Given the description of an element on the screen output the (x, y) to click on. 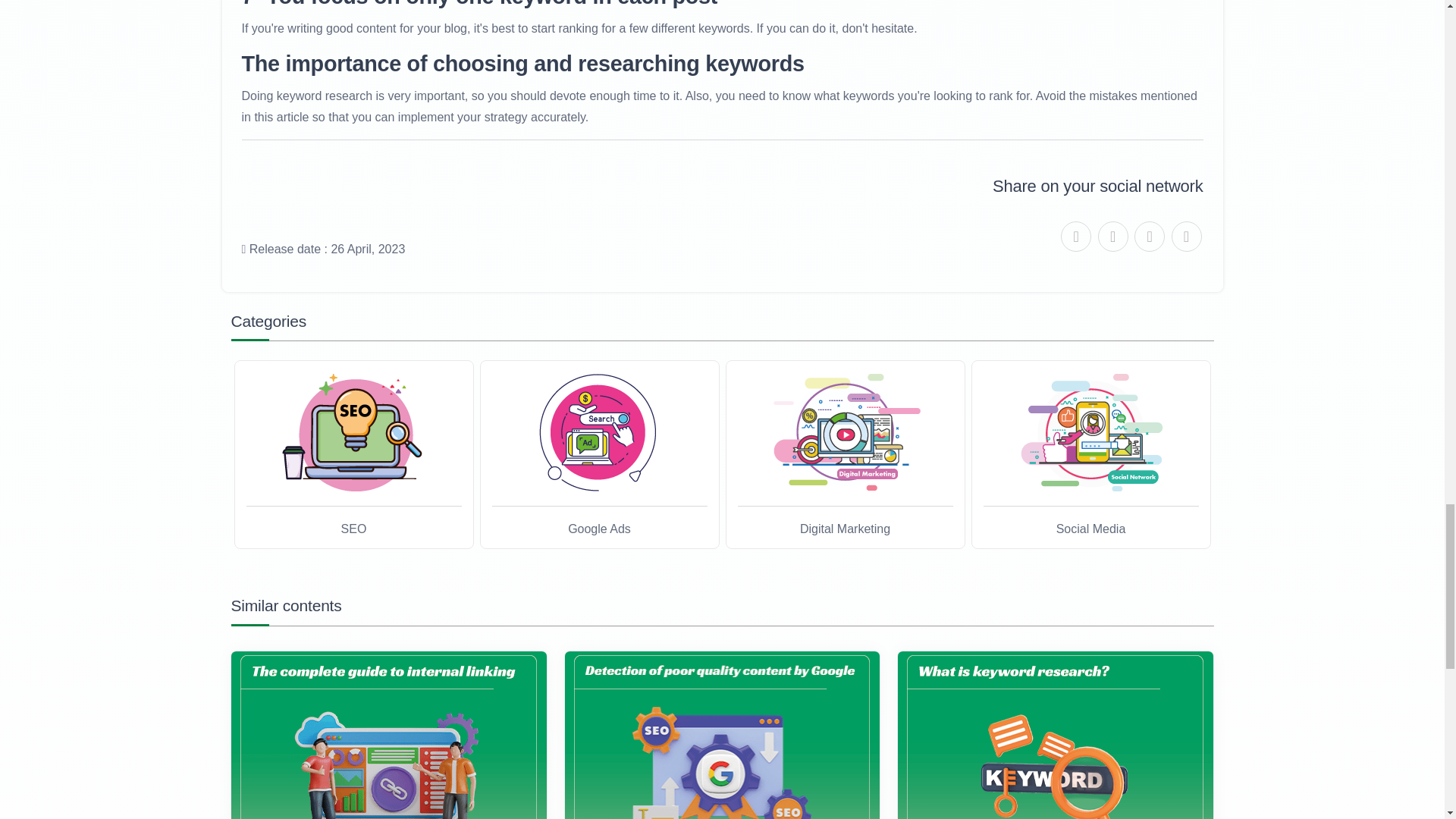
The importance of keyword research (1055, 735)
Digital Marketing (844, 432)
twitter (1075, 236)
facebook (1112, 236)
Social Media (1090, 432)
How to create internal links (389, 735)
SEO (354, 432)
How does Google recognize poor-quality content? (721, 735)
linkedin (1149, 236)
Google Ads (599, 432)
